Given the description of an element on the screen output the (x, y) to click on. 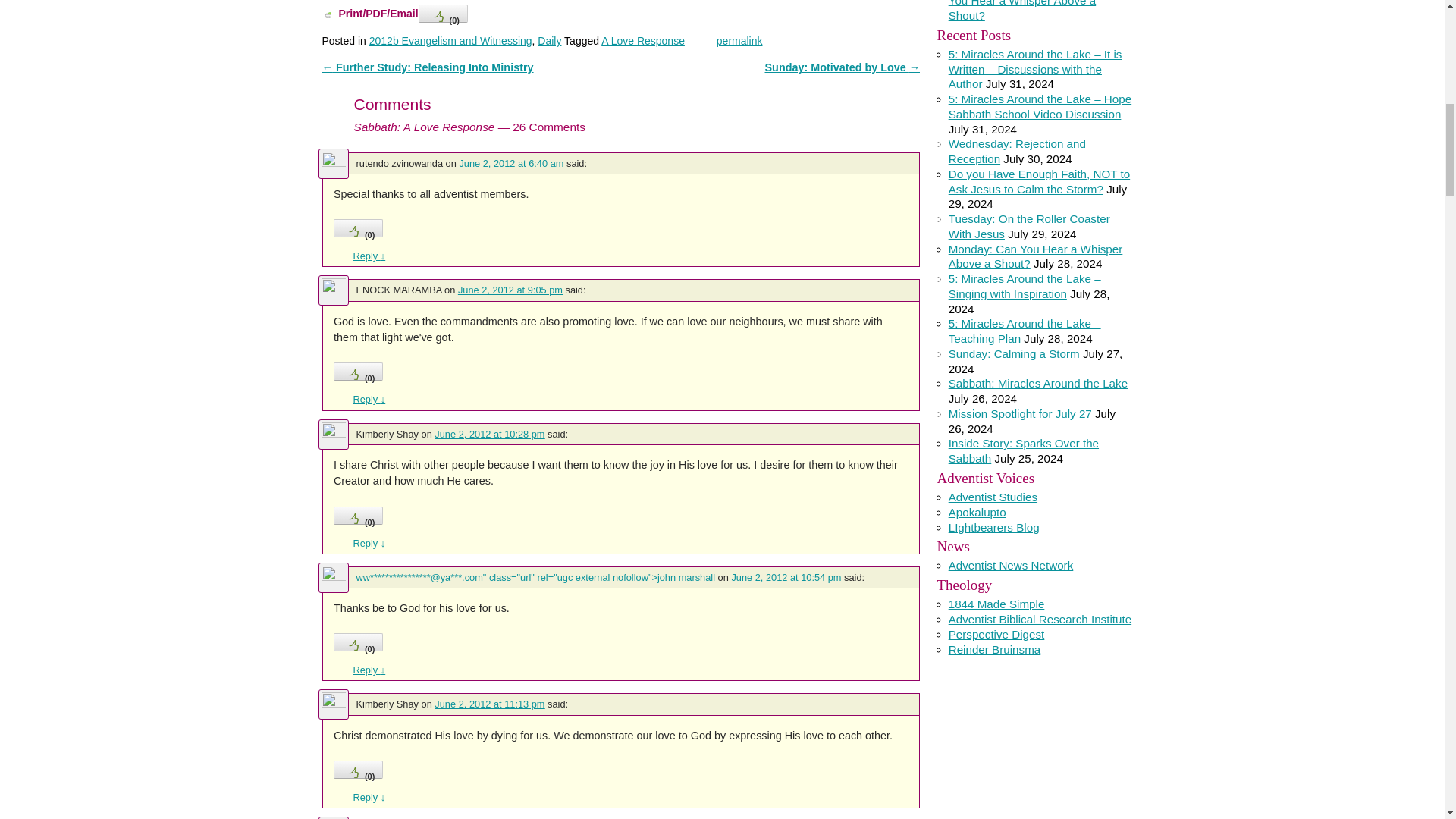
by Arthur Patrick of Avondale (992, 496)
Publication of Adventist Theological Society (997, 634)
 David Hamstra blog (977, 512)
Official Adventist News Network (1011, 564)
Permalink to Sabbath: A Love Response (739, 40)
